Given the description of an element on the screen output the (x, y) to click on. 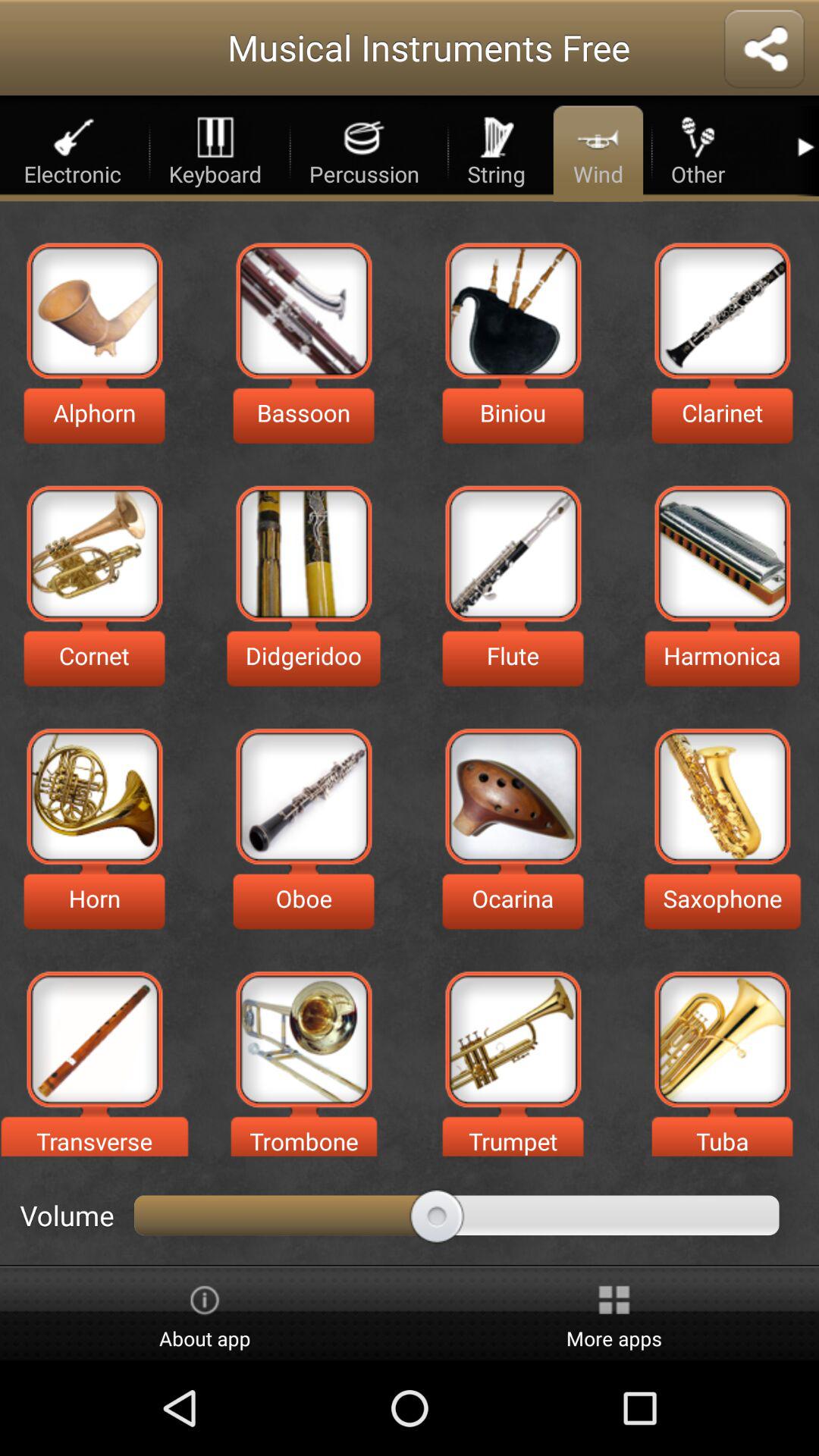
select tuba instrument (722, 1039)
